Given the description of an element on the screen output the (x, y) to click on. 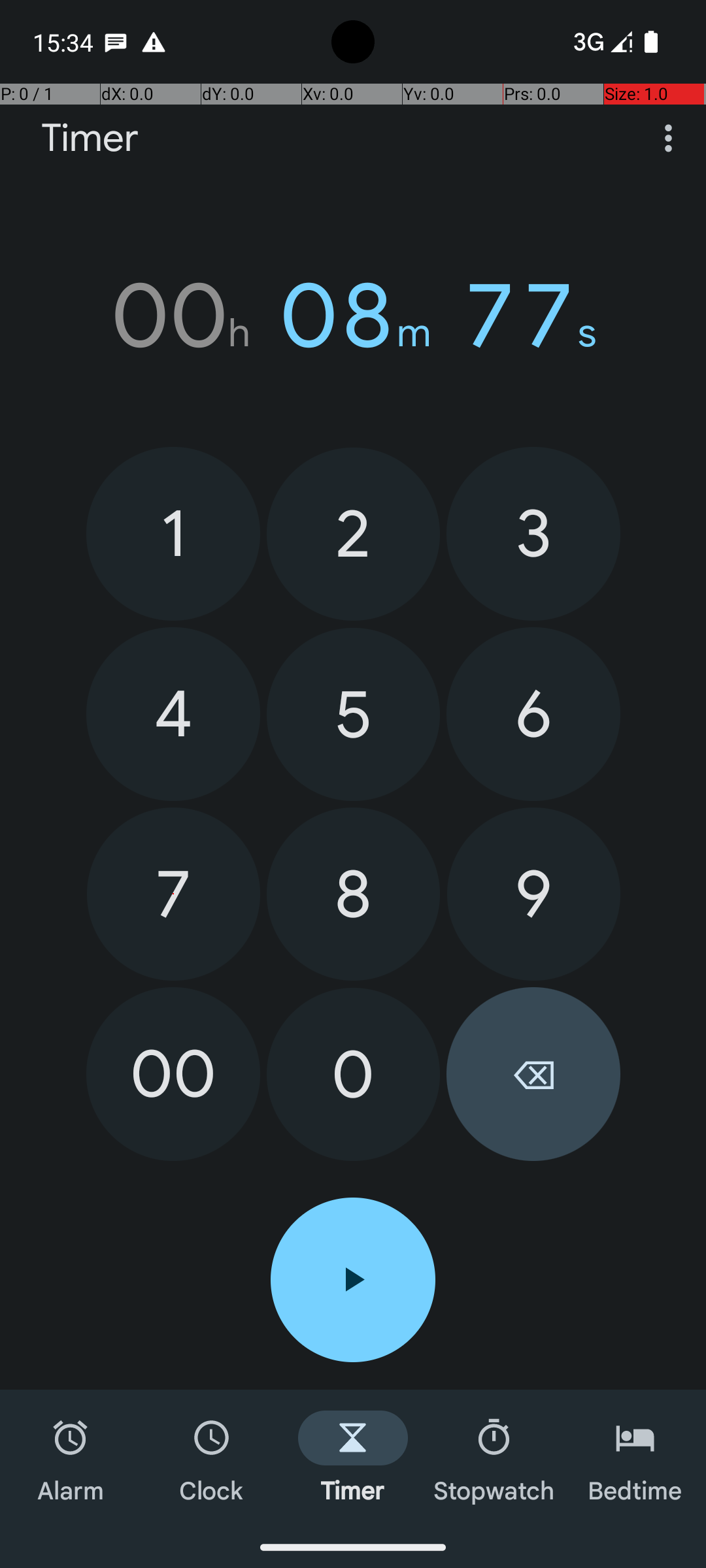
00h 08m 77s Element type: android.widget.TextView (353, 315)
